Given the description of an element on the screen output the (x, y) to click on. 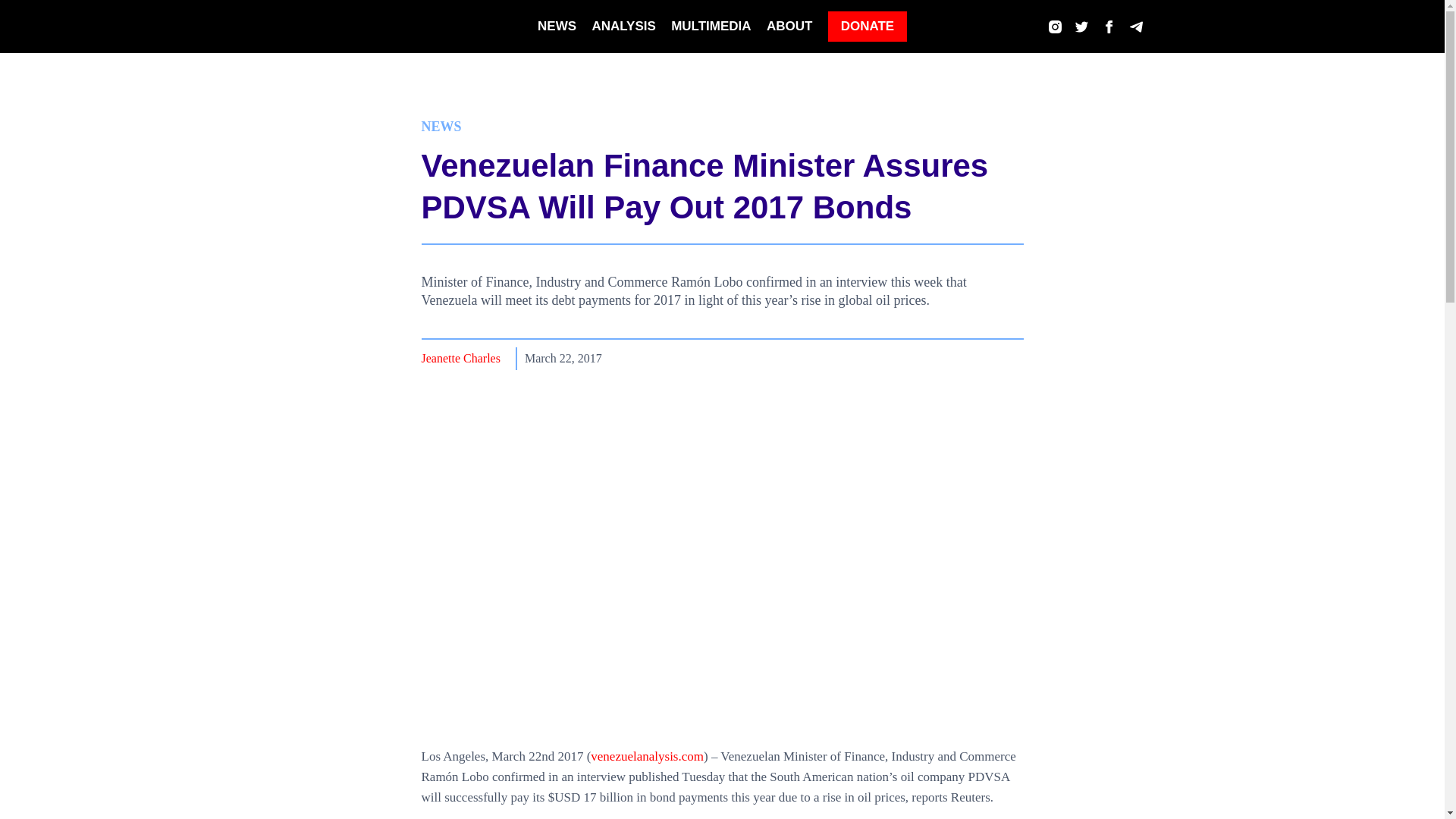
ABOUT (789, 26)
Facebook (983, 356)
NEWS (556, 26)
DONATE (867, 26)
ANALYSIS (623, 26)
Jeanette Charles (461, 358)
venezuelanalysis.com (647, 756)
MULTIMEDIA (710, 26)
NEWS (441, 126)
Telegram (1010, 356)
Twitter (956, 356)
